Given the description of an element on the screen output the (x, y) to click on. 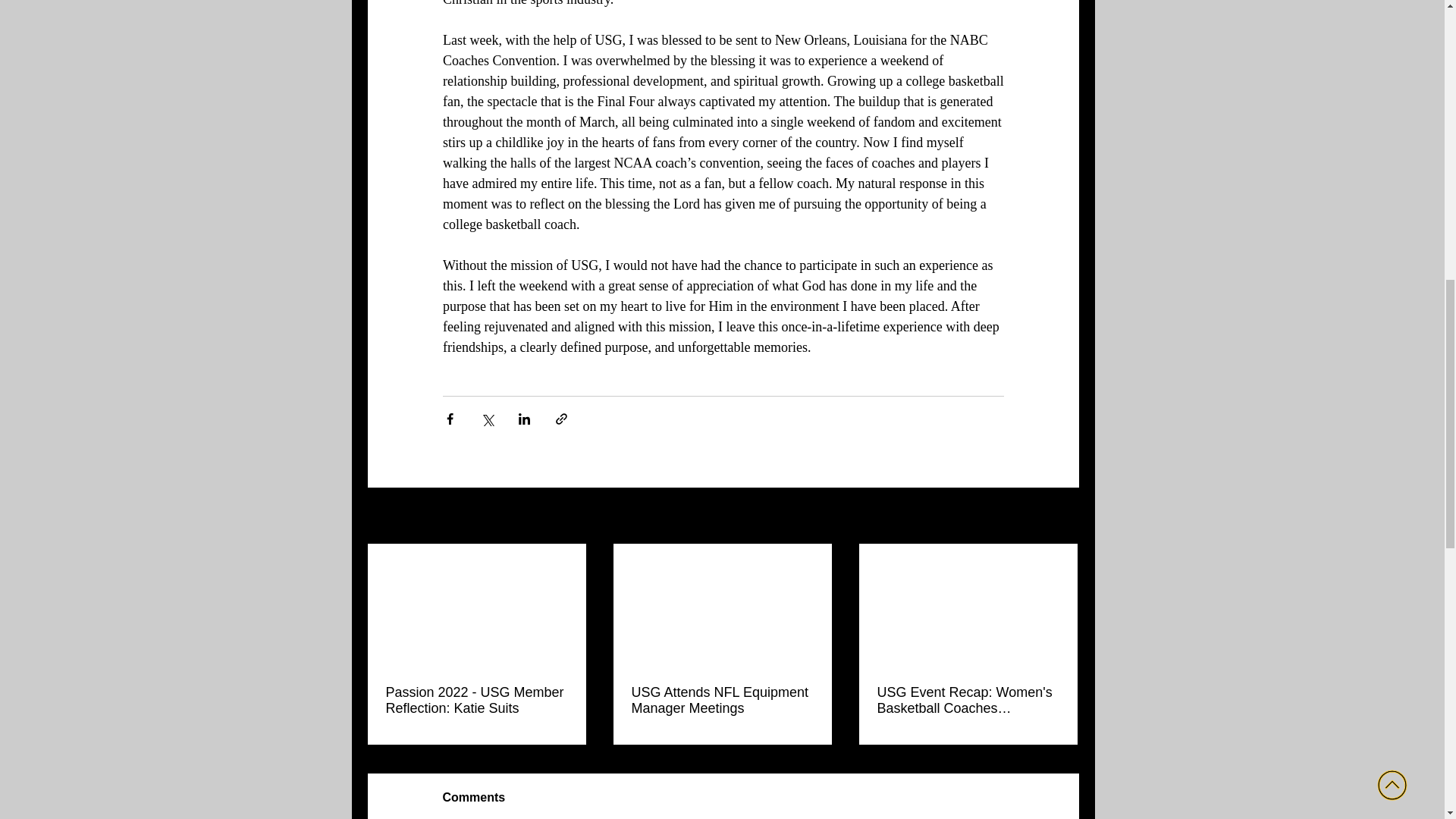
Passion 2022 - USG Member Reflection: Katie Suits (476, 699)
See All (1063, 516)
USG Attends NFL Equipment Manager Meetings (721, 699)
